Given the description of an element on the screen output the (x, y) to click on. 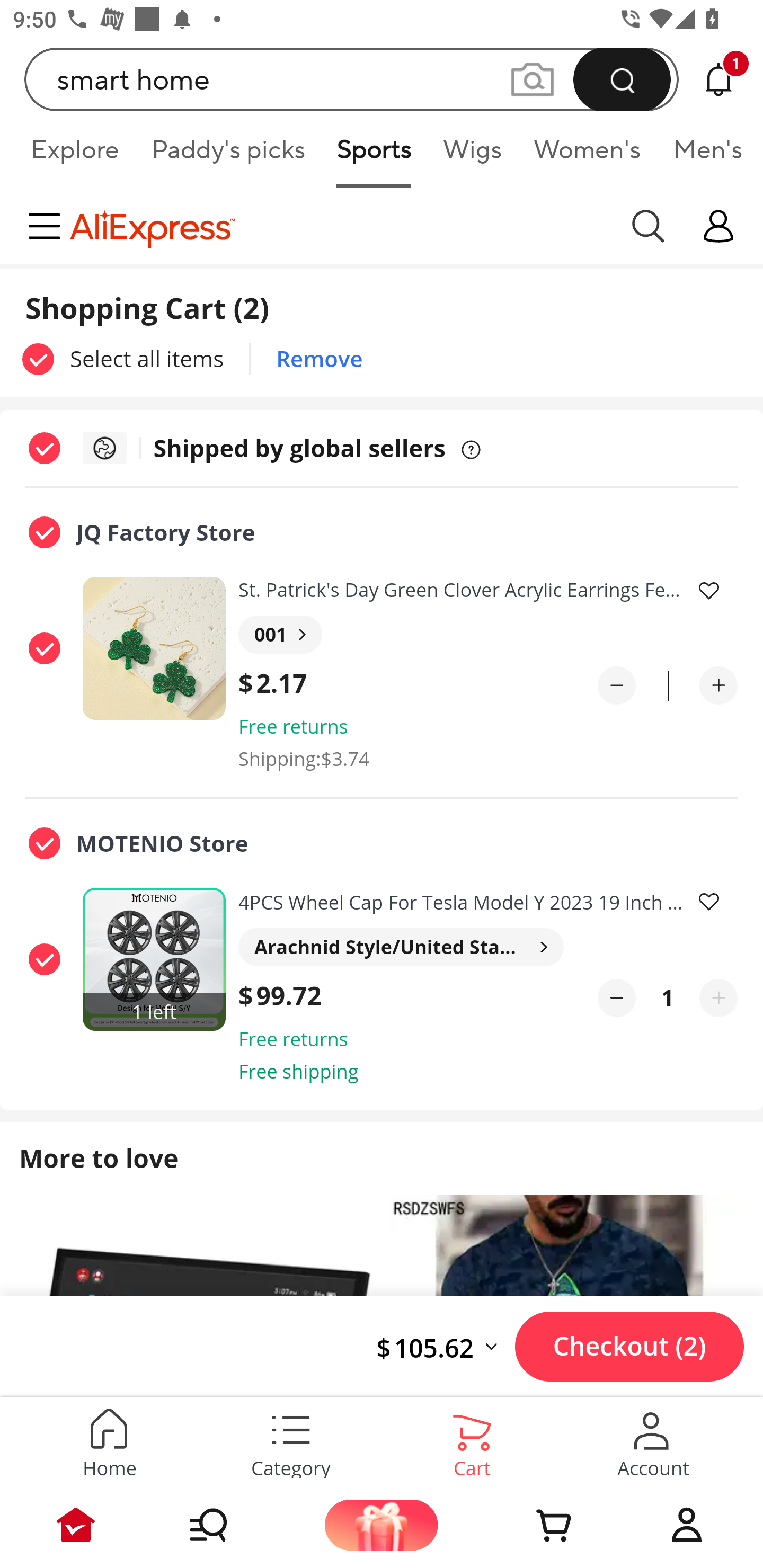
smart home (351, 79)
Explore (74, 155)
Paddy's picks (227, 155)
Wigs (472, 155)
Women's (586, 155)
Men's (701, 155)
aliexpress (340, 225)
category (47, 225)
shop (718, 225)
Remove (318, 358)
JQ Factory Store (313, 532)
3256806164834504 (157, 647)
001 (280, 634)
MOTENIO Store (313, 842)
1 left (157, 959)
Arachnid Style/United States (401, 946)
1 (667, 997)
Checkout (2) (629, 1345)
$105.62 (445, 1346)
Home (109, 1439)
Category (290, 1439)
Cart (471, 1439)
Account (653, 1439)
Shop (228, 1524)
Cart (533, 1524)
Account (686, 1524)
